Given the description of an element on the screen output the (x, y) to click on. 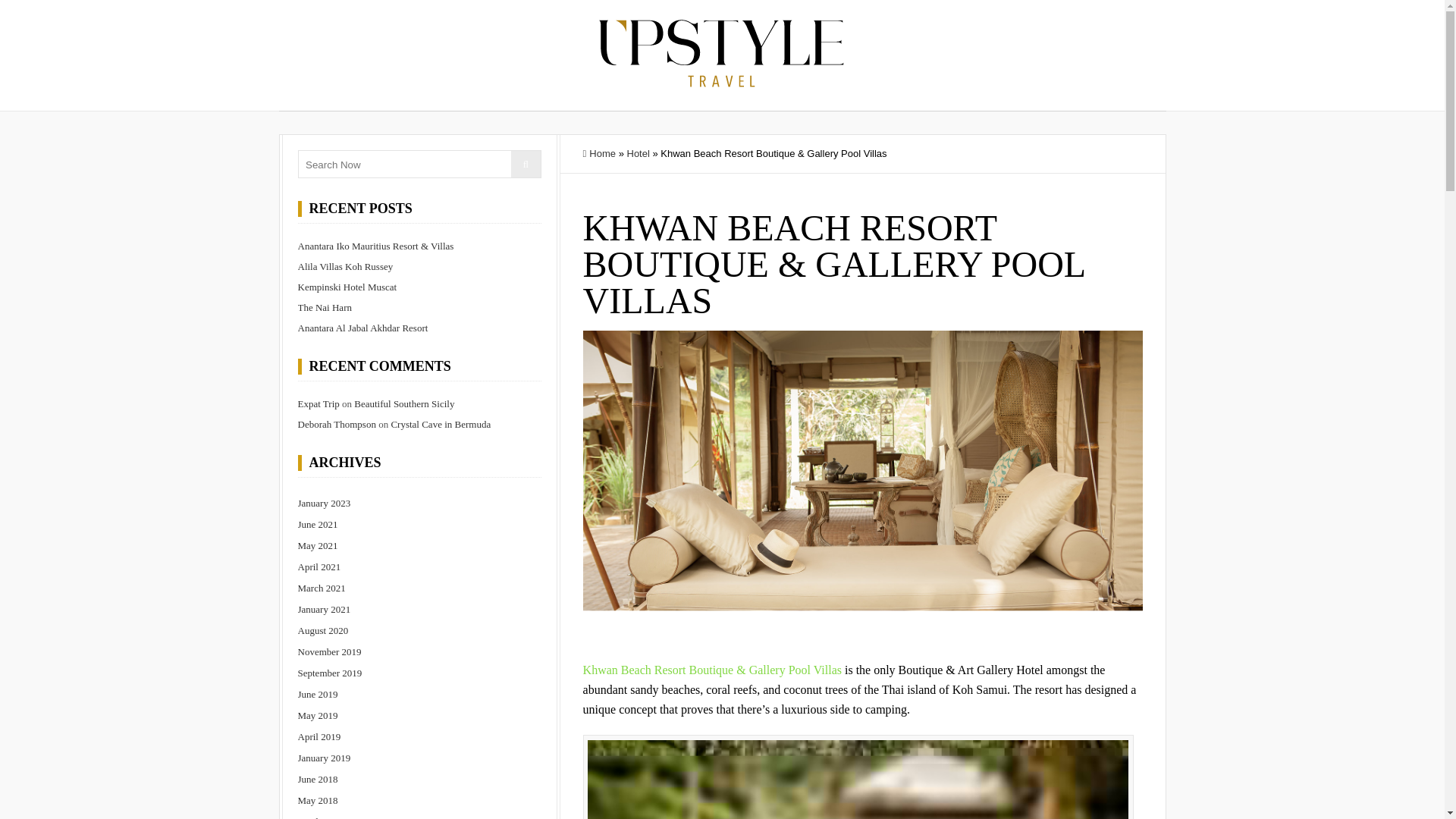
Search (525, 163)
June 2021 (418, 524)
Beautiful Southern Sicily (403, 403)
April 2021 (418, 567)
Kempinski Hotel Muscat (346, 286)
January 2021 (418, 608)
Crystal Cave in Bermuda (440, 423)
August 2020 (418, 630)
Deborah Thompson (336, 423)
March 2021 (418, 588)
January 2023 (418, 503)
Anantara Al Jabal Akhdar Resort (362, 327)
Expat Trip (318, 403)
Home (599, 153)
Alila Villas Koh Russey (345, 266)
